Given the description of an element on the screen output the (x, y) to click on. 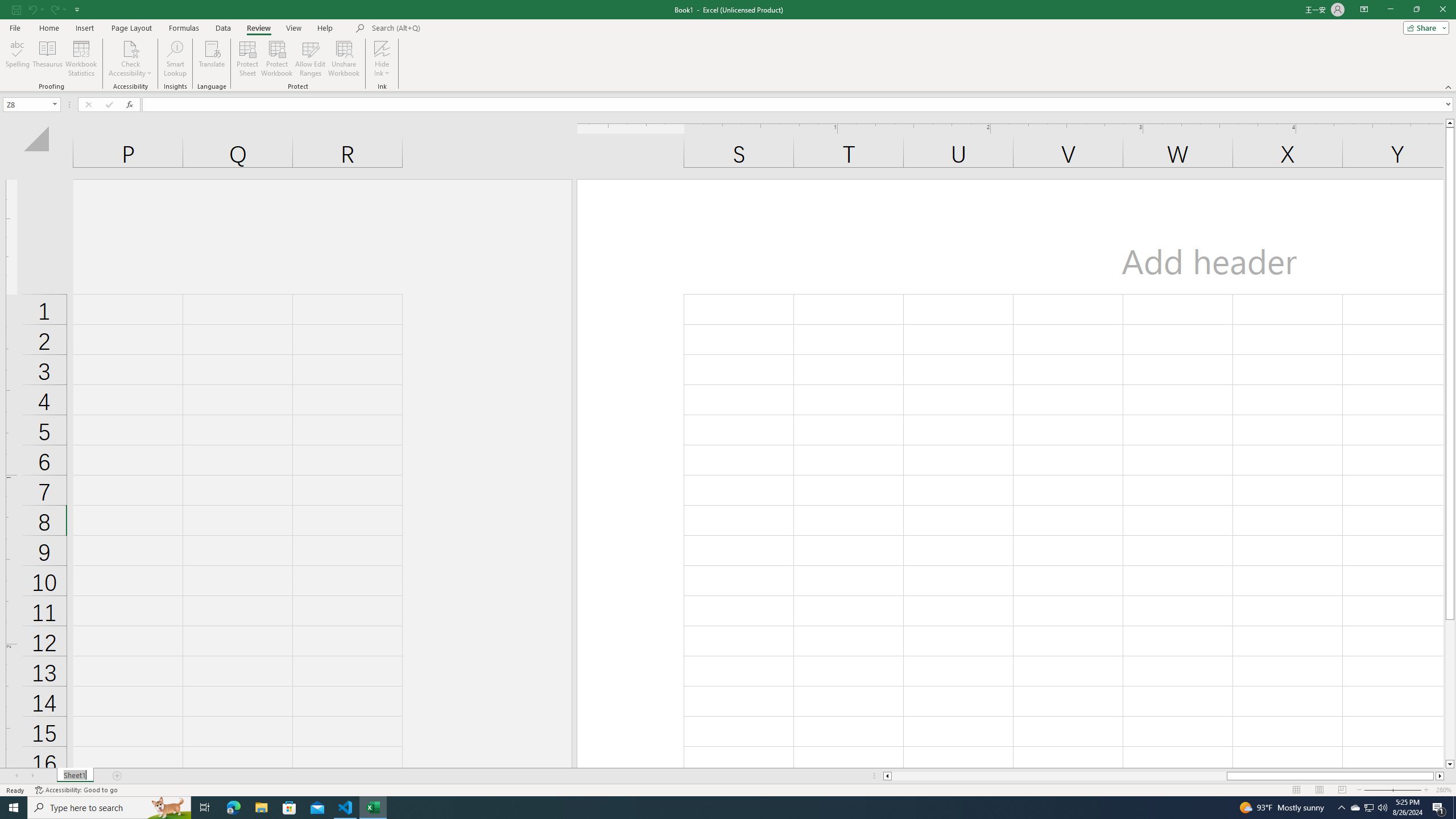
Page Break Preview (1342, 790)
Class: MsoCommandBar (728, 45)
Spelling... (17, 58)
Protect Workbook... (277, 58)
More Options (381, 68)
Quick Access Toolbar (46, 9)
View (293, 28)
Line down (1449, 764)
Data (223, 28)
Zoom In (1426, 790)
File Tab (15, 27)
Collapse the Ribbon (1448, 86)
